Given the description of an element on the screen output the (x, y) to click on. 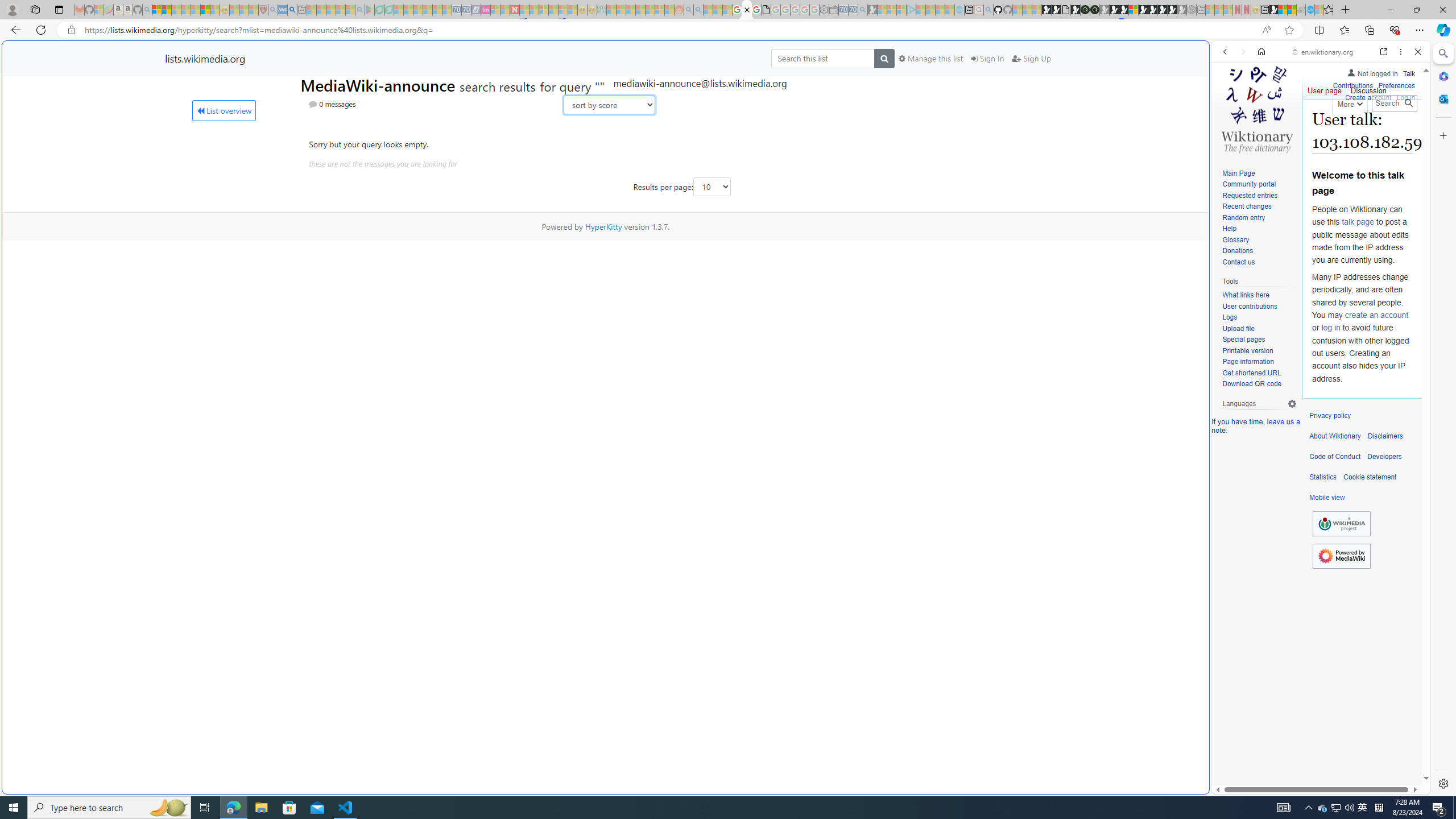
Upload file (1259, 328)
Printable version (1247, 350)
Privacy policy (1329, 415)
